Given the description of an element on the screen output the (x, y) to click on. 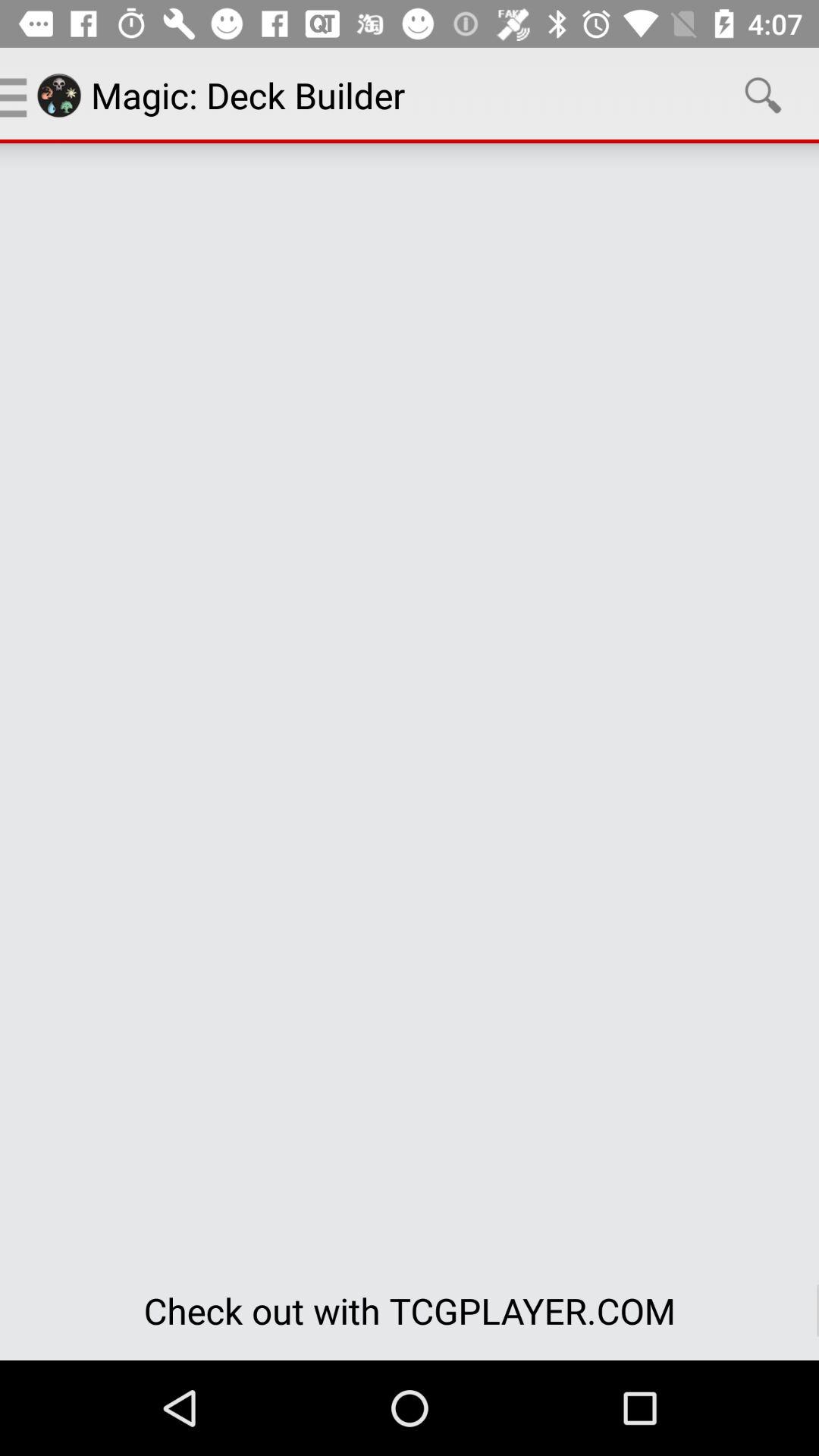
open app to the right of magic: deck builder app (763, 95)
